Given the description of an element on the screen output the (x, y) to click on. 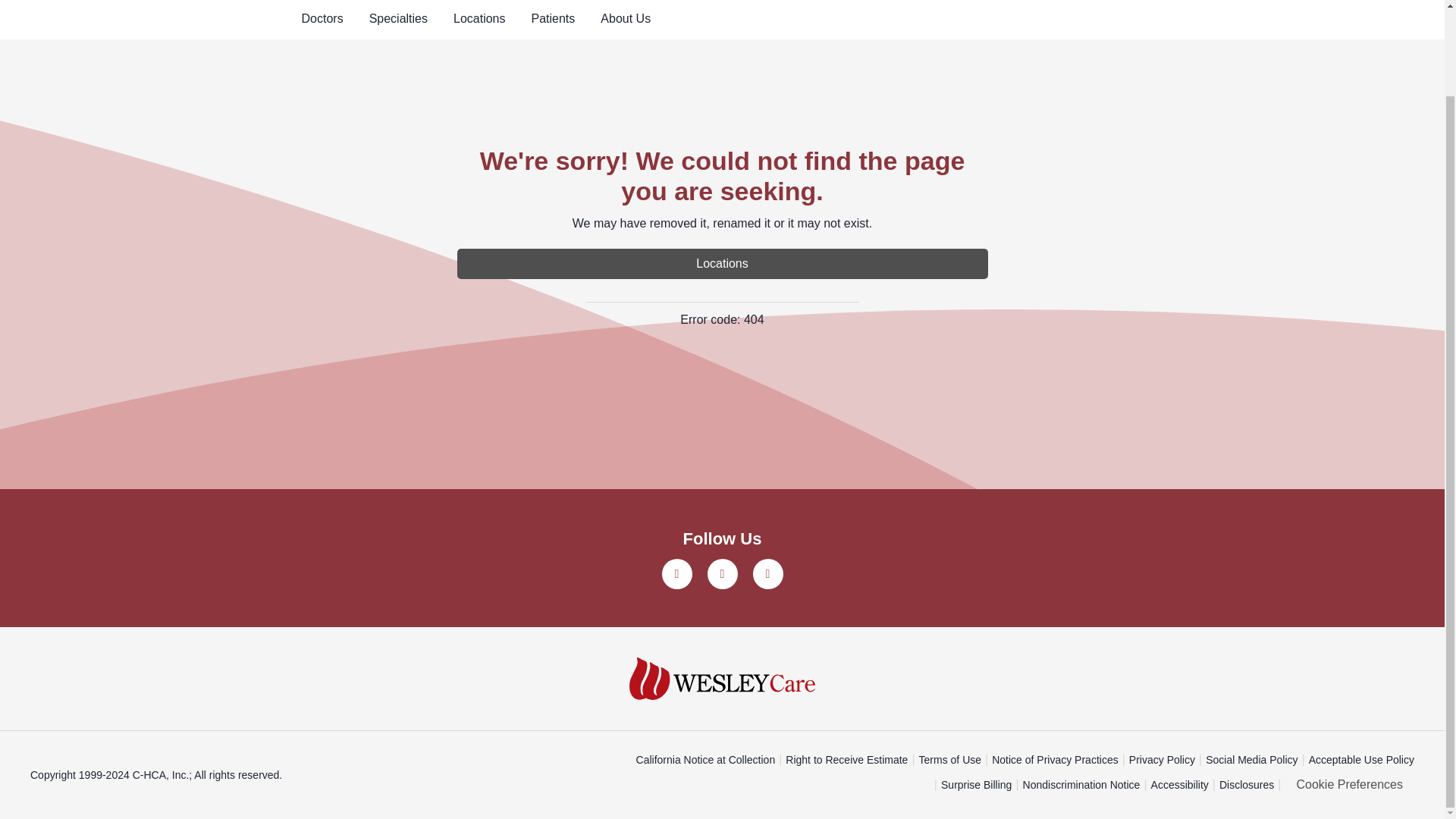
Privacy Policy (1162, 759)
Surprise Billing (975, 784)
Locations (722, 263)
California Notice at Collection (706, 759)
Patients (553, 19)
About Us (624, 19)
Specialties (398, 19)
Notice of Privacy Practices (1054, 759)
Terms of Use (949, 759)
Doctors (322, 19)
